Given the description of an element on the screen output the (x, y) to click on. 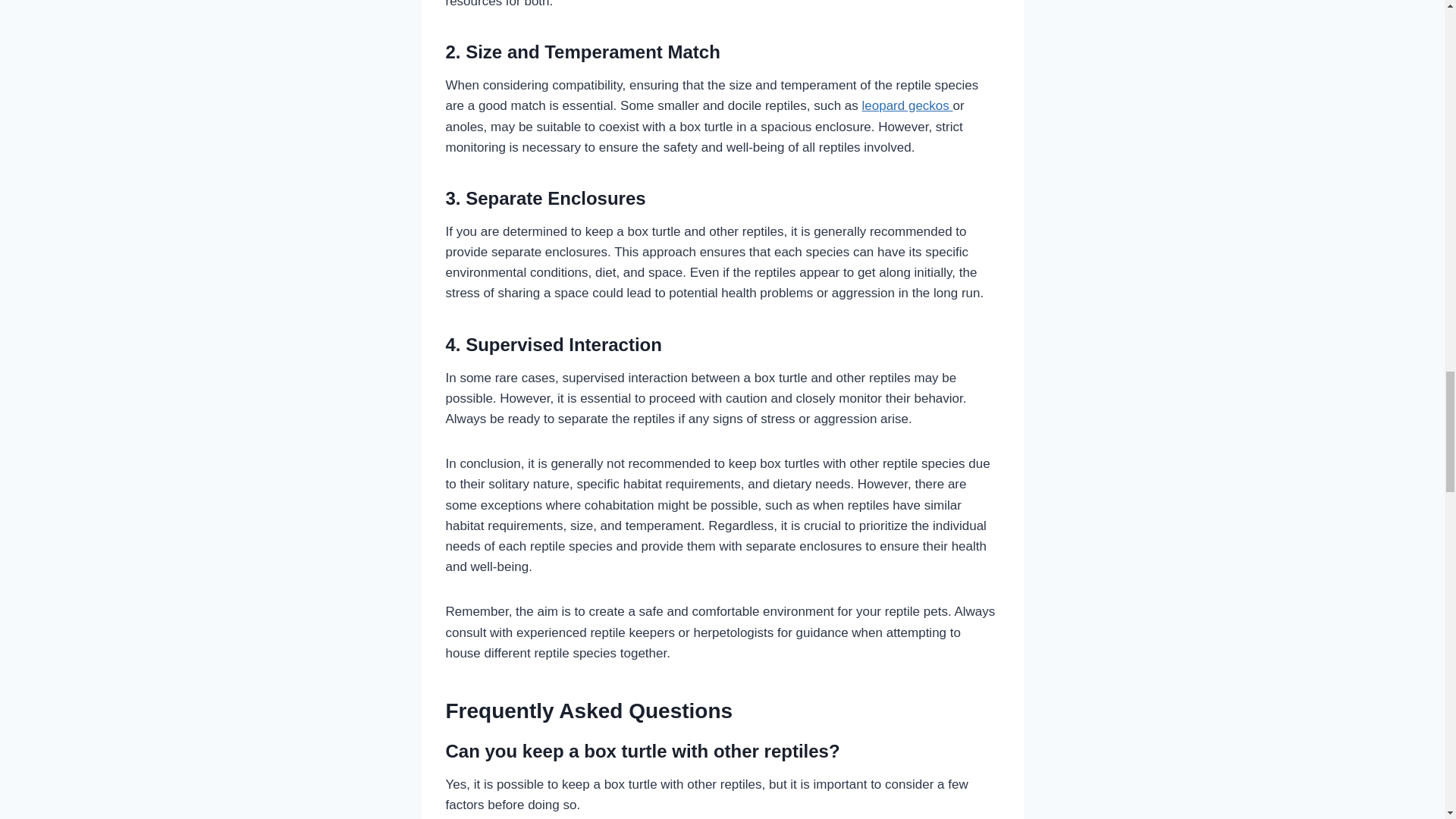
leopard geckos (906, 105)
